Given the description of an element on the screen output the (x, y) to click on. 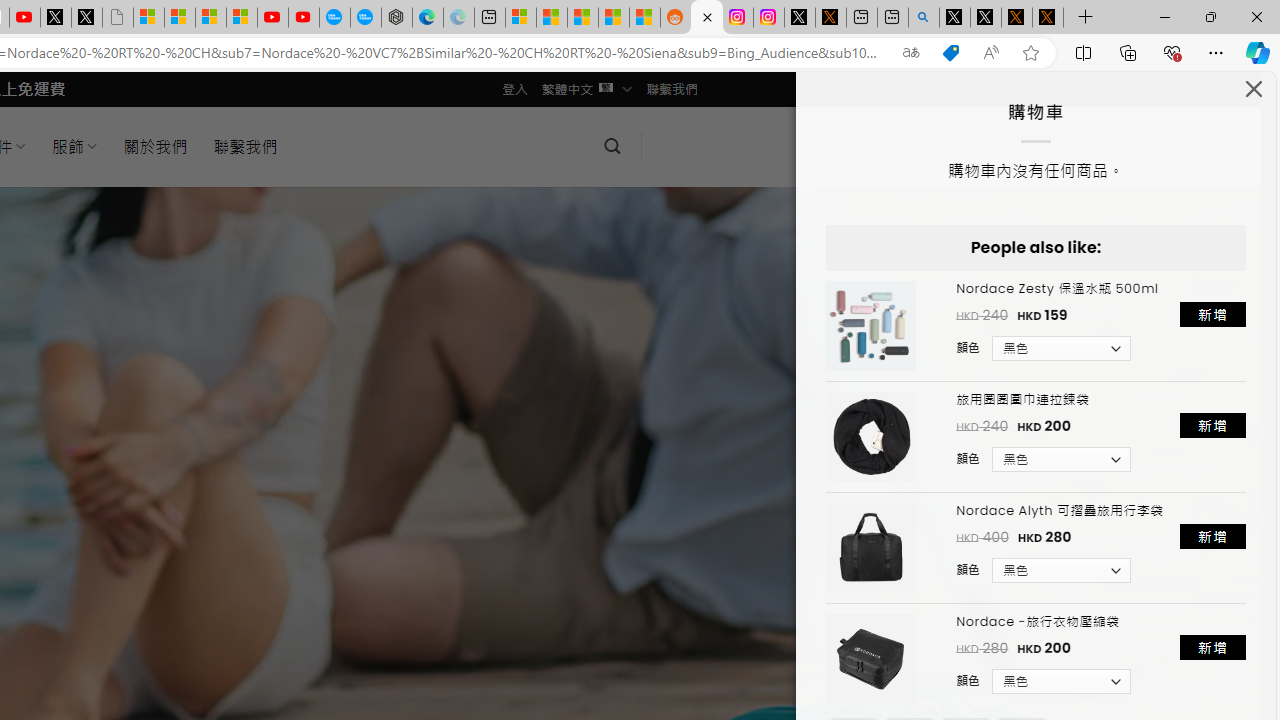
Class: feather feather-x (1254, 88)
